Given the description of an element on the screen output the (x, y) to click on. 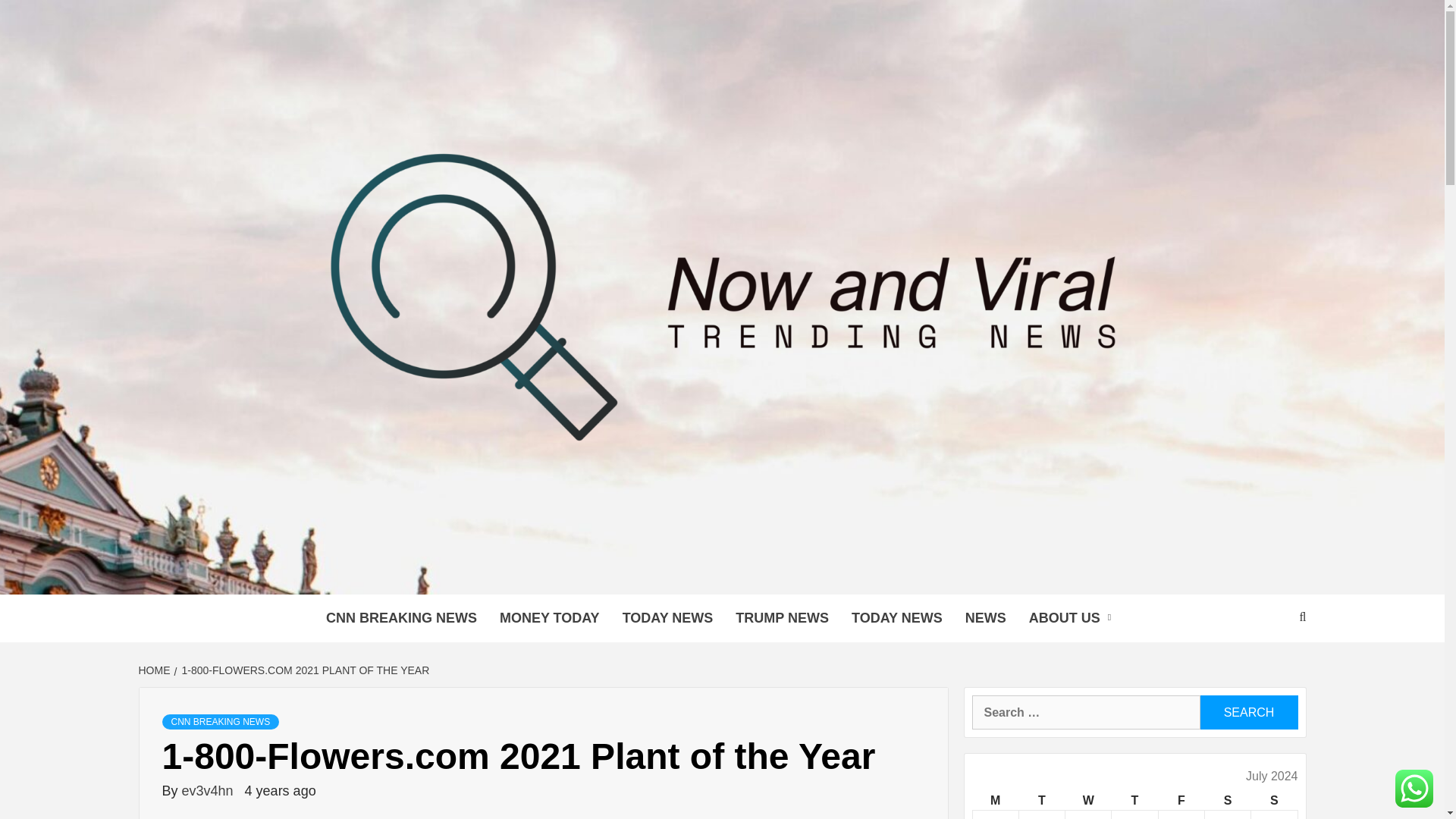
Tuesday (1040, 800)
1-800-FLOWERS.COM 2021 PLANT OF THE YEAR (303, 670)
Wednesday (1088, 800)
Saturday (1227, 800)
ev3v4hn (209, 790)
Search (1248, 712)
Friday (1180, 800)
ABOUT US (1073, 618)
NOW AND VIRAL (449, 575)
Search (1248, 712)
Sunday (1273, 800)
Search (1248, 712)
MONEY TODAY (549, 618)
TODAY NEWS (896, 618)
Thursday (1134, 800)
